Given the description of an element on the screen output the (x, y) to click on. 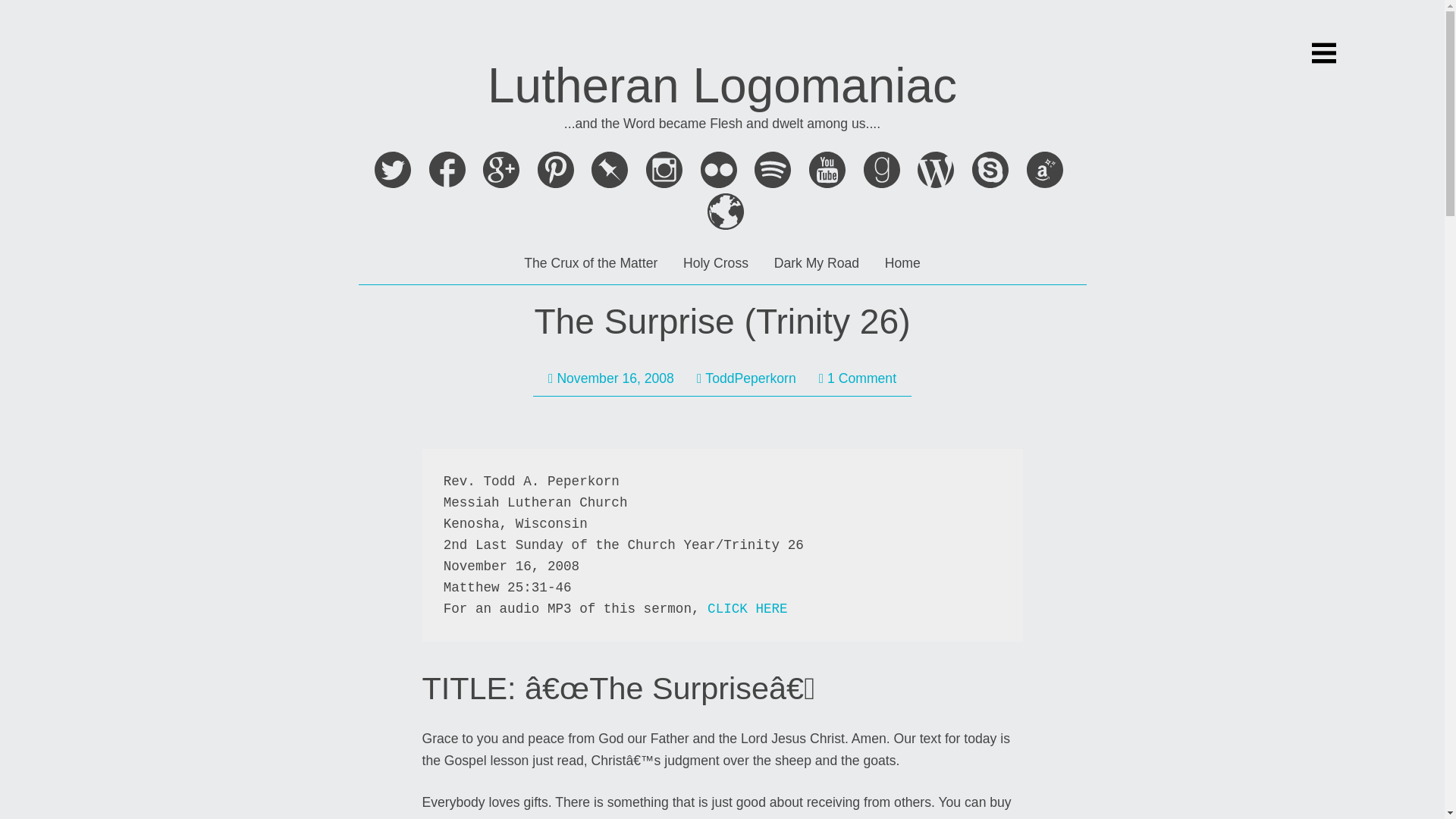
ToddPeperkorn (746, 378)
1 Comment (857, 378)
Dark My Road (816, 262)
November 16, 2008 (611, 378)
Lutheran Logomaniac (721, 85)
The Crux of the Matter (591, 262)
Home (902, 262)
Holy Cross (715, 262)
Show sidebar (1323, 52)
Lutheran Logomaniac (721, 85)
CLICK HERE (747, 608)
